Given the description of an element on the screen output the (x, y) to click on. 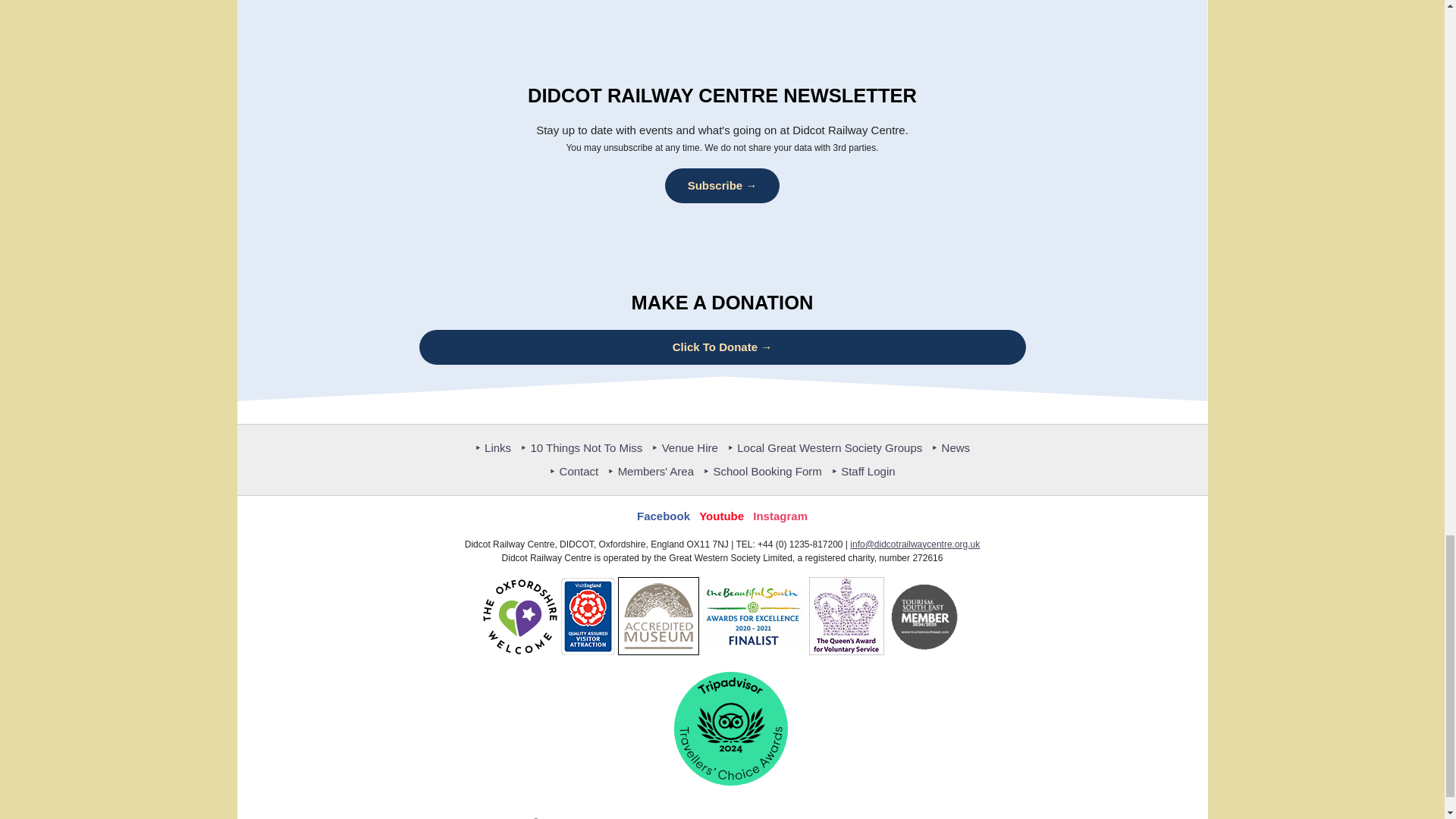
News (950, 447)
Gift Aid (896, 817)
Local Great Western Society Groups (823, 447)
Subscribe (722, 185)
Contact (573, 471)
Staff Login (863, 471)
Pre-arrival information (693, 817)
Privacy (764, 817)
Click To Donate (722, 347)
Links (492, 447)
10 Things Not To Miss (580, 447)
Venue Hire (683, 447)
School Booking Form (762, 471)
Members' Area (650, 471)
Facebook (663, 515)
